Given the description of an element on the screen output the (x, y) to click on. 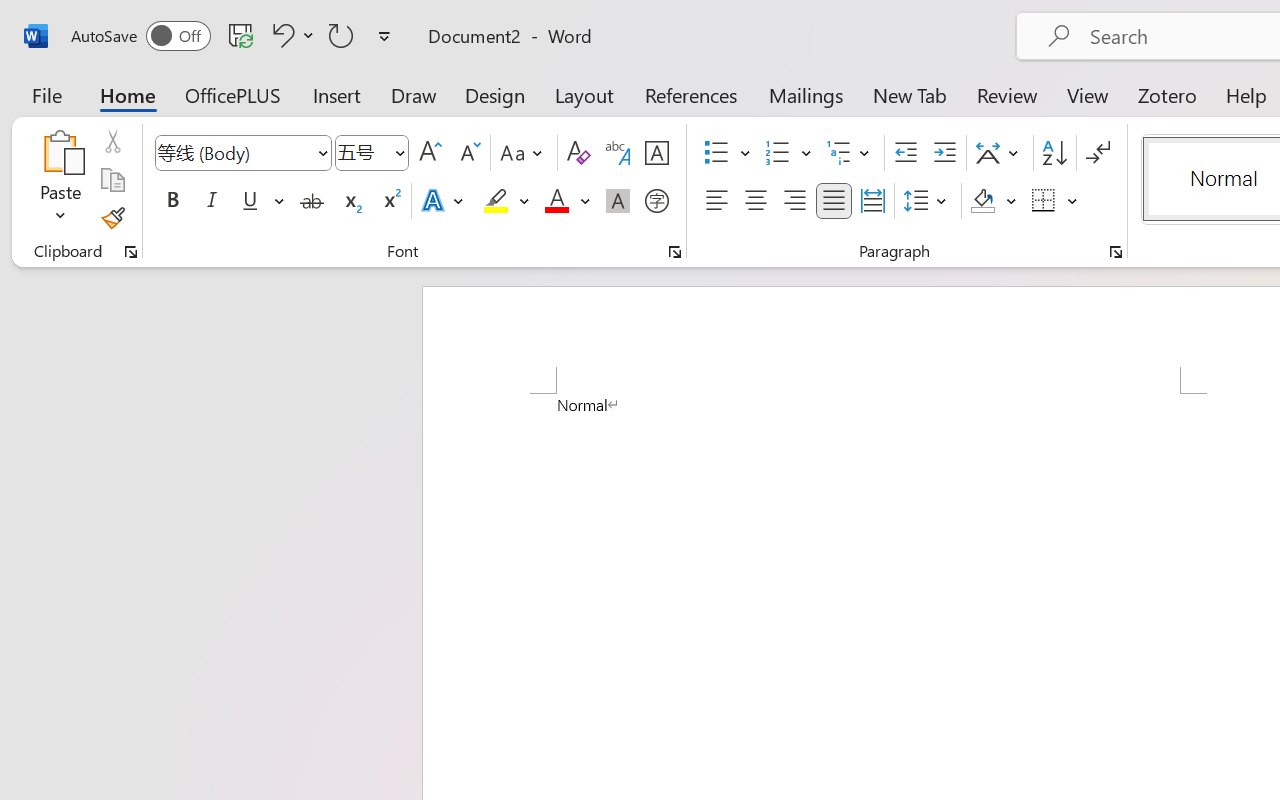
Borders (1044, 201)
Change Case (524, 153)
